Given the description of an element on the screen output the (x, y) to click on. 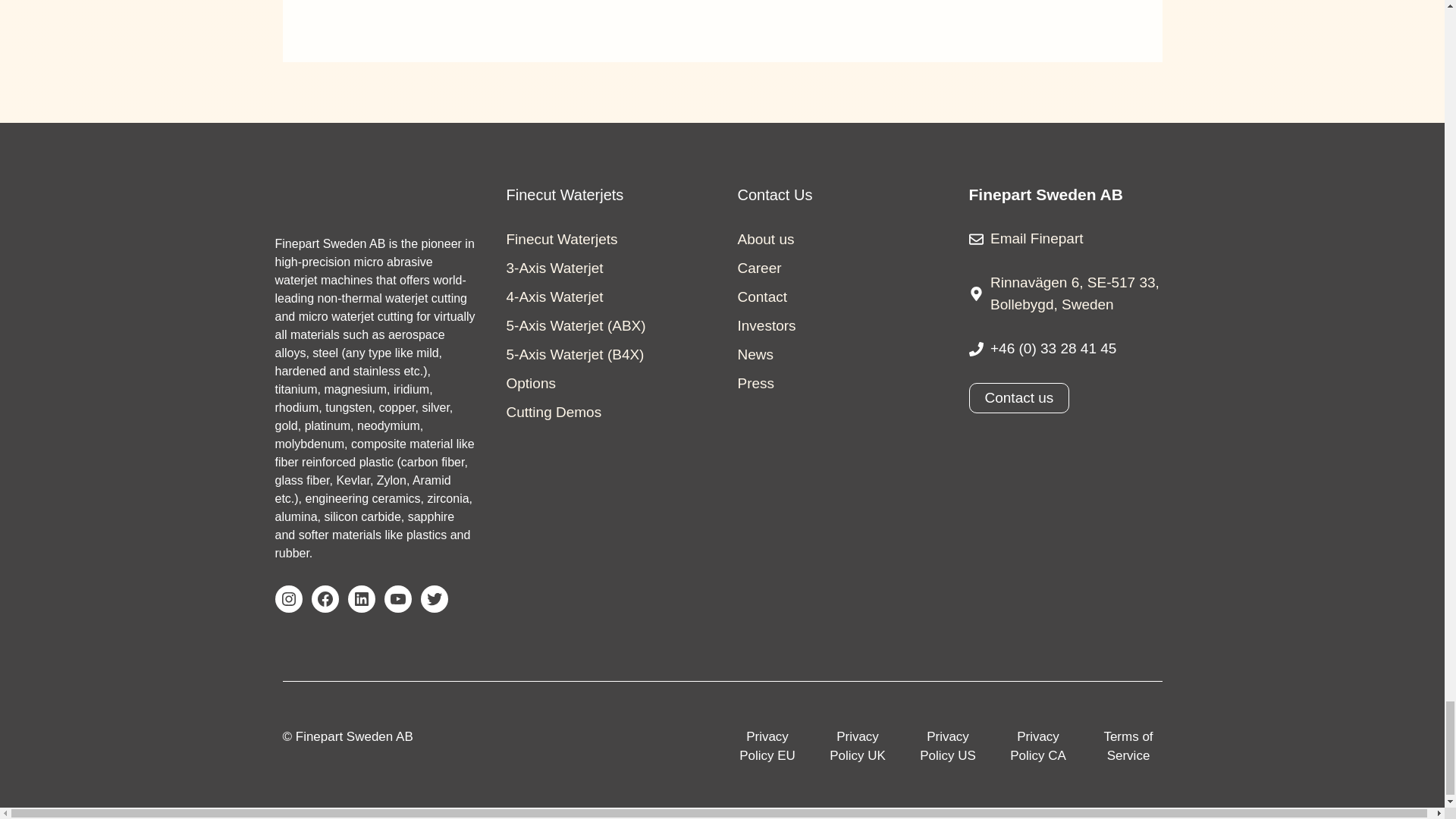
Instagram (288, 598)
YouTube (397, 598)
LinkedIn (360, 598)
Facebook (324, 598)
